Given the description of an element on the screen output the (x, y) to click on. 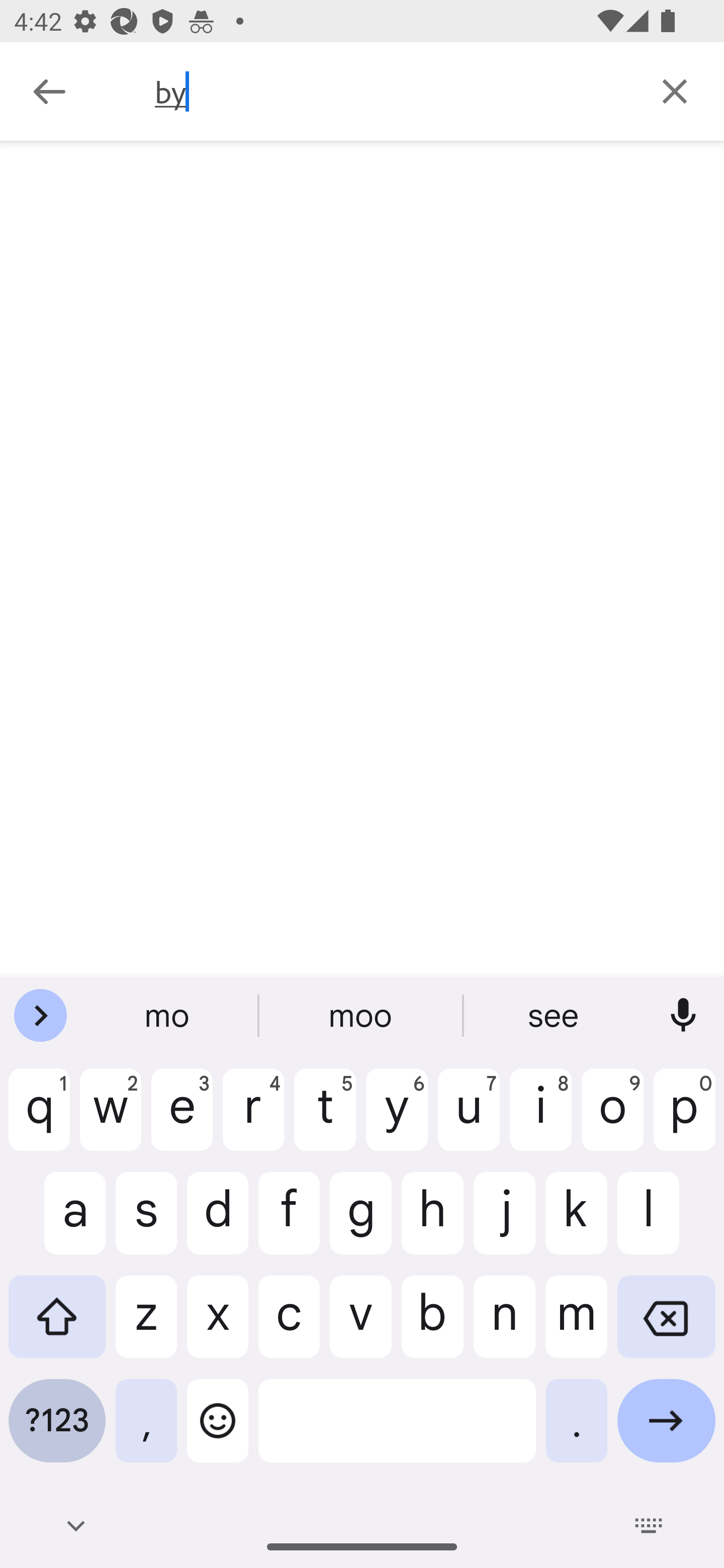
Navigate up (49, 91)
Clear query (674, 90)
by (389, 91)
